Given the description of an element on the screen output the (x, y) to click on. 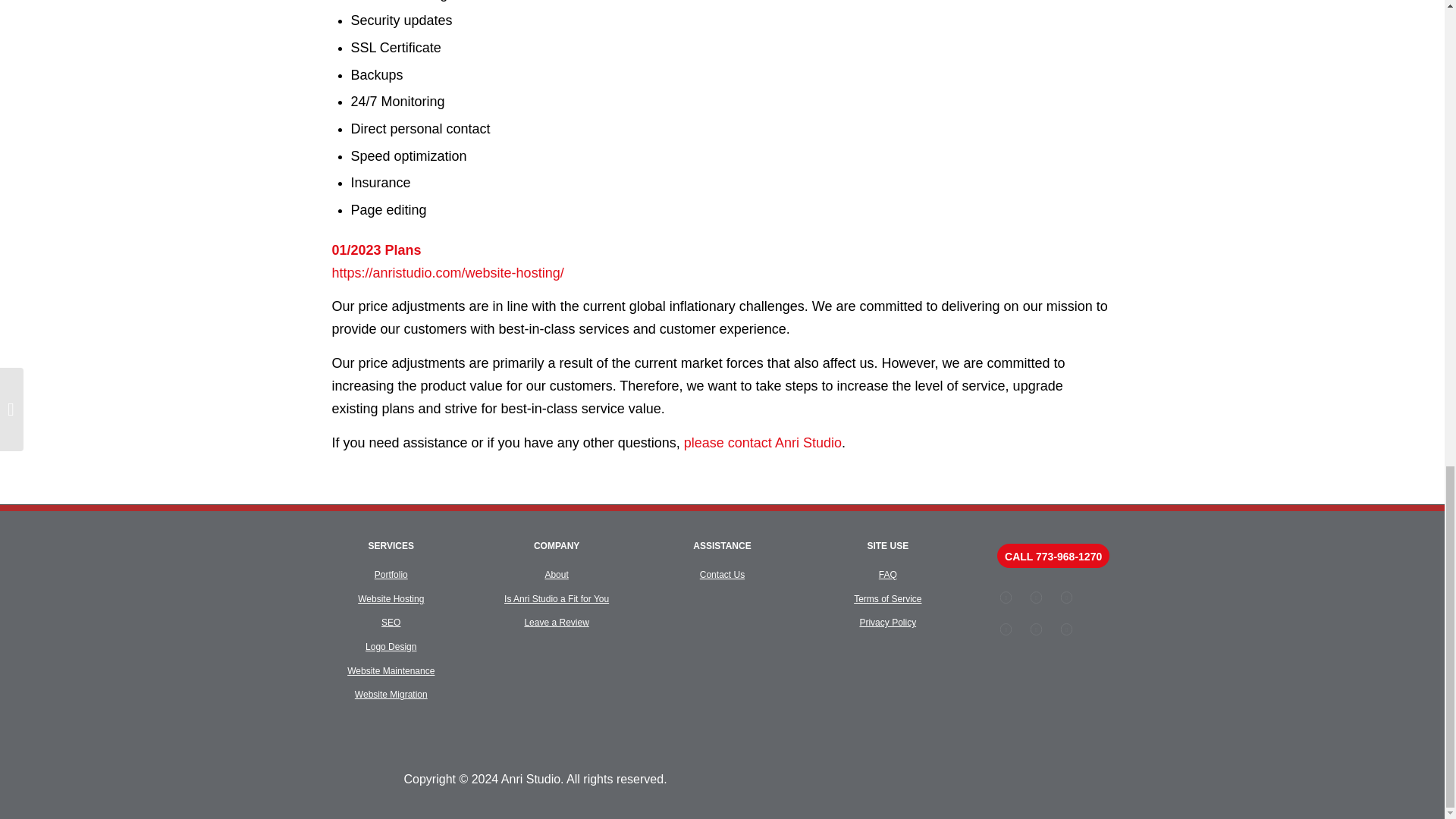
CALL 773-968-1270 (1053, 555)
About (555, 574)
Terms of Service (887, 598)
Website Hosting (390, 598)
Logo Design (390, 646)
Website Maintenance (390, 670)
Website Migration (391, 694)
Contact Us (722, 574)
FAQ (887, 574)
Leave a Review (556, 622)
